Given the description of an element on the screen output the (x, y) to click on. 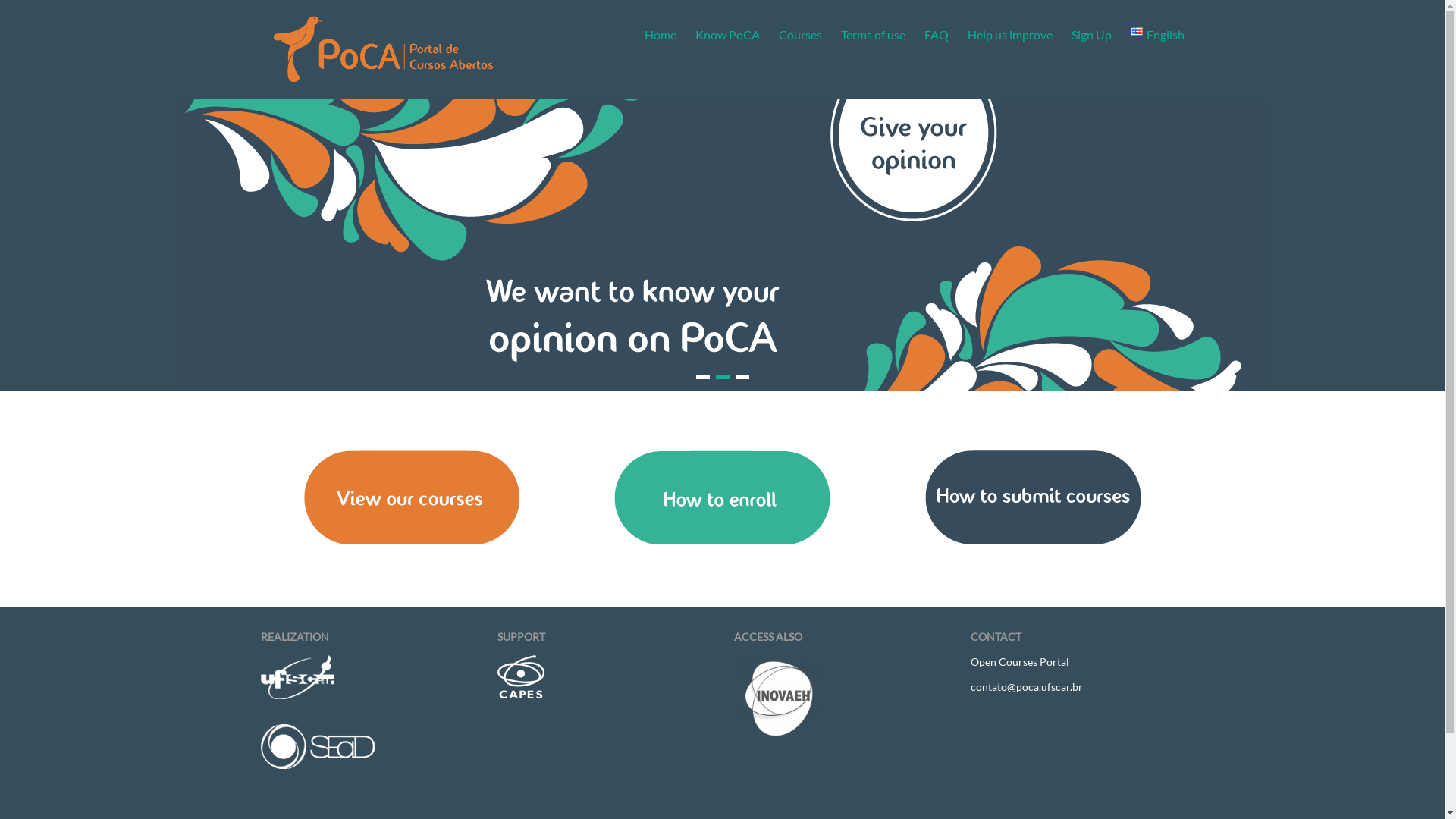
Courses Element type: text (800, 32)
Help us improve Element type: text (1009, 32)
English Element type: text (1157, 32)
Terms of use Element type: text (872, 32)
Home Element type: text (660, 32)
FAQ Element type: text (936, 32)
English Element type: hover (1136, 31)
Know PoCA Element type: text (727, 32)
Sign Up Element type: text (1091, 32)
